Given the description of an element on the screen output the (x, y) to click on. 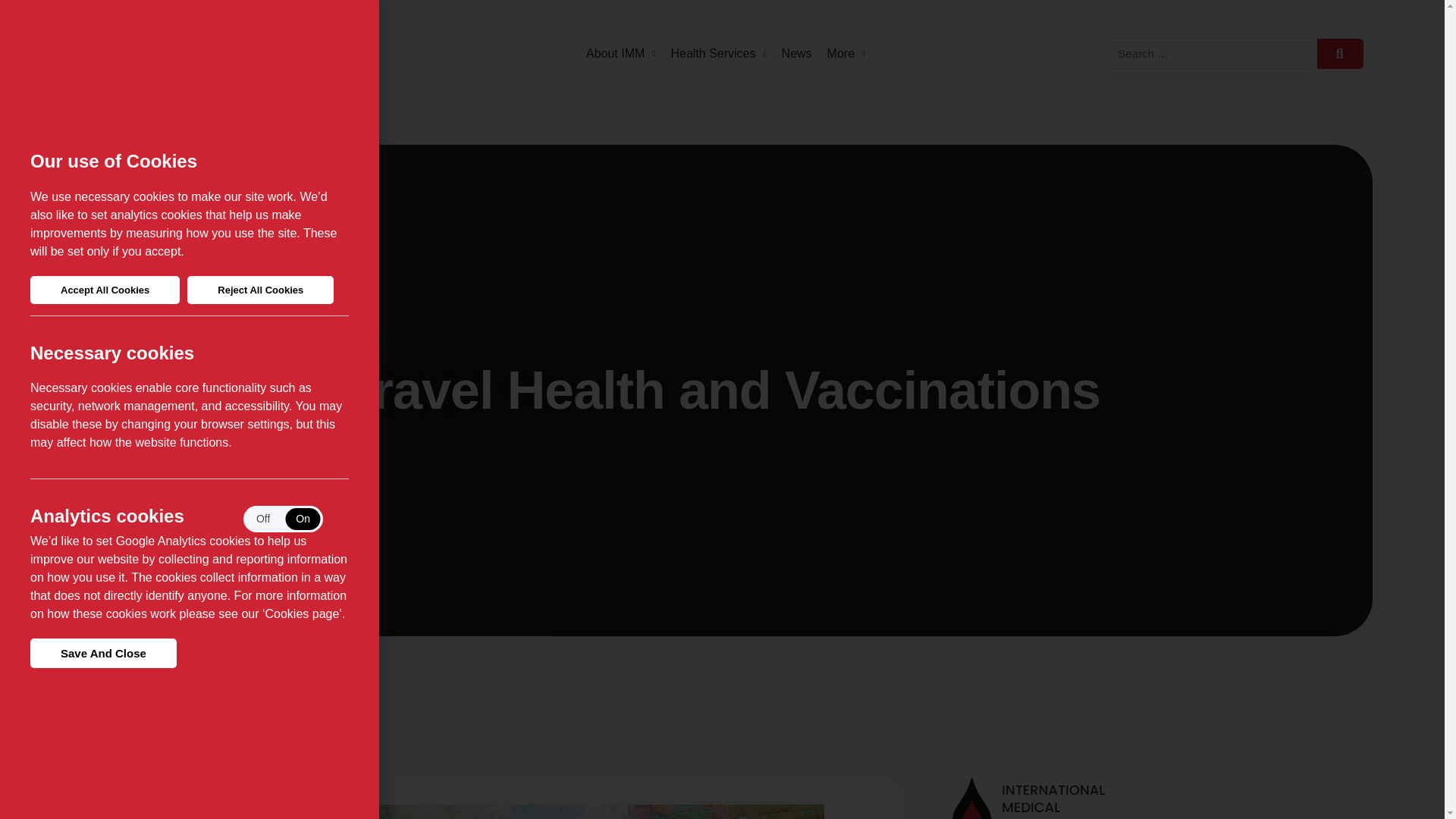
News (796, 53)
More (846, 53)
Health Services (717, 53)
About IMM (620, 53)
